Given the description of an element on the screen output the (x, y) to click on. 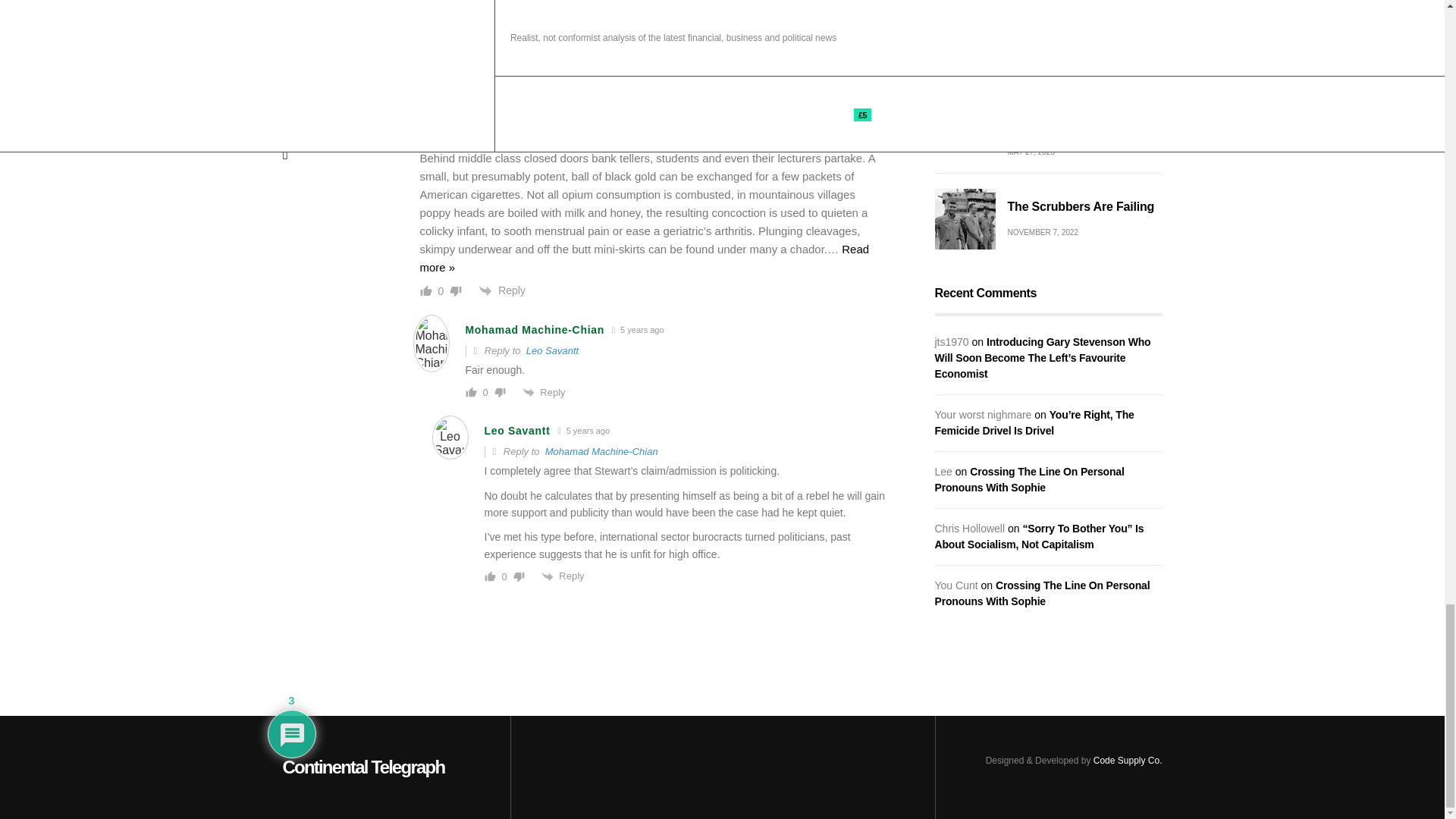
Strike (491, 9)
Italic (449, 9)
Unordered List (533, 9)
Bold (427, 9)
Underline (470, 9)
Ordered List (512, 9)
Blockquote (555, 9)
Code Block (576, 9)
